Given the description of an element on the screen output the (x, y) to click on. 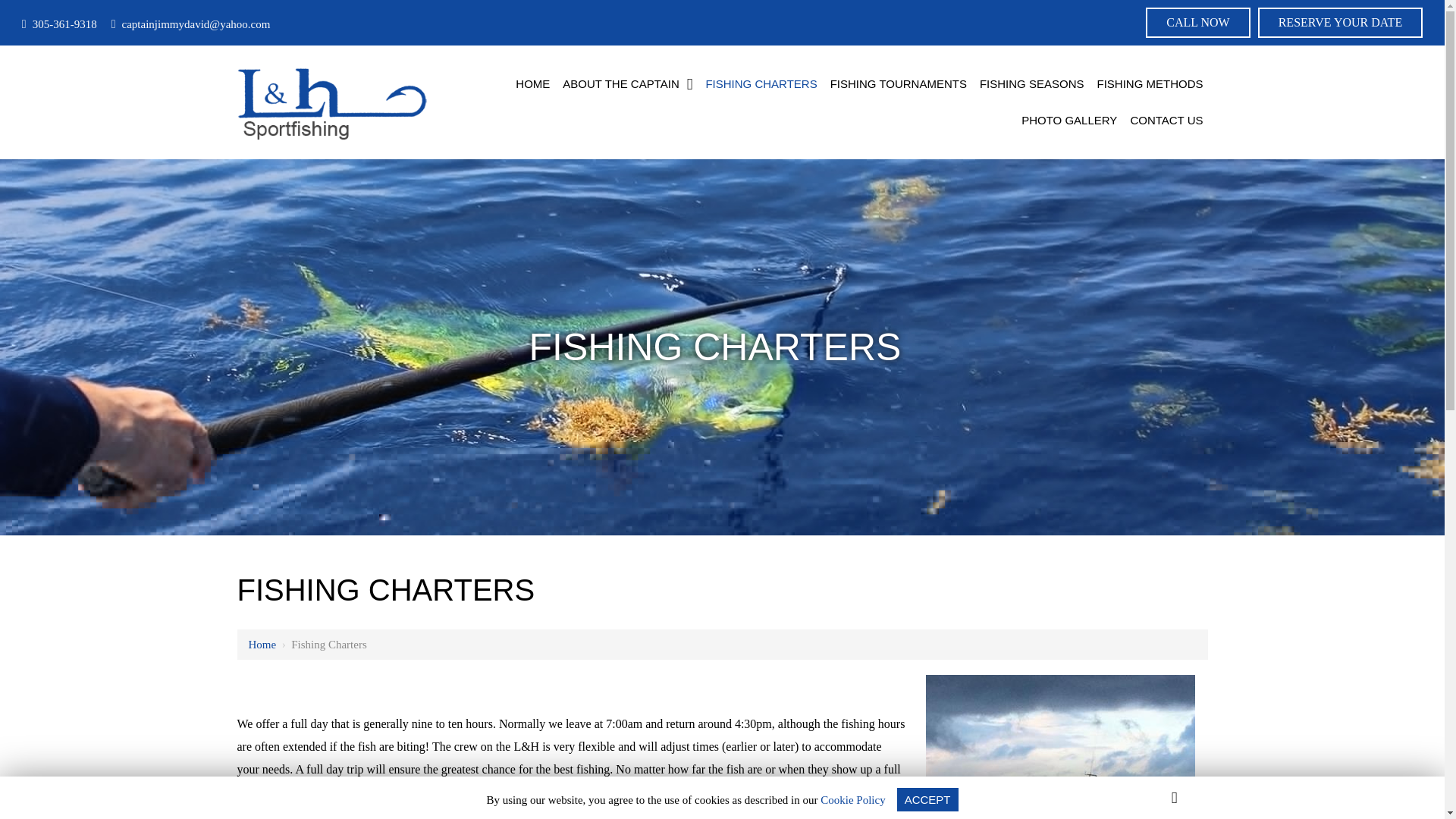
HOME (532, 84)
ABOUT THE CAPTAIN (627, 84)
FISHING METHODS (1149, 84)
FISHING SEASONS (1032, 84)
PHOTO GALLERY (1068, 120)
FISHING TOURNAMENTS (898, 84)
CALL NOW (1197, 22)
305-361-9318 (59, 23)
RESERVE YOUR DATE (1339, 22)
Home (262, 644)
CONTACT US (1166, 120)
FISHING CHARTERS (760, 84)
